Given the description of an element on the screen output the (x, y) to click on. 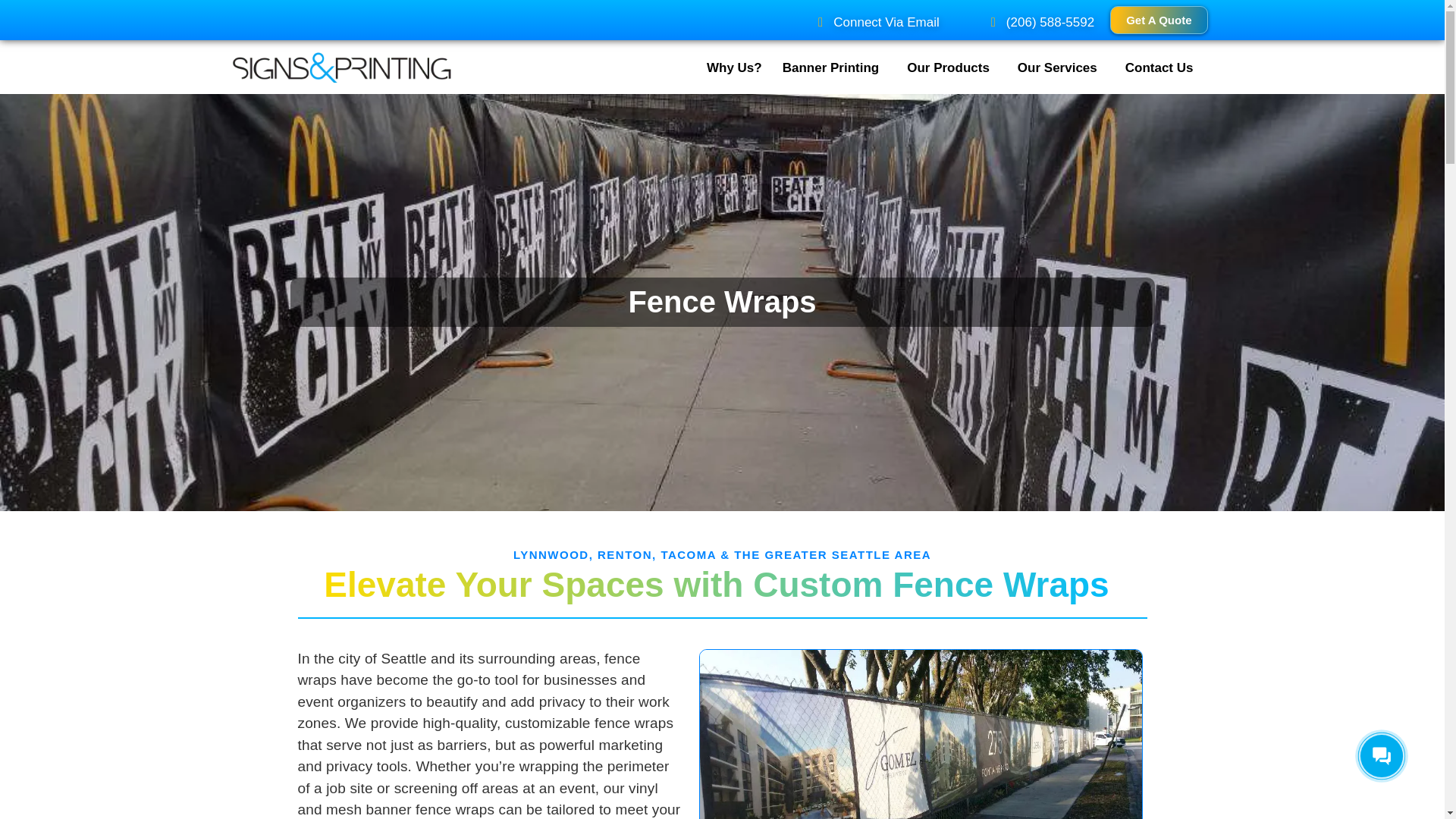
Banner Printing (834, 68)
Our Products (952, 68)
Contact Us (1159, 68)
Get A Quote (1158, 19)
Connect Via Email (569, 22)
Our Services (1061, 68)
Why Us? (733, 68)
